Given the description of an element on the screen output the (x, y) to click on. 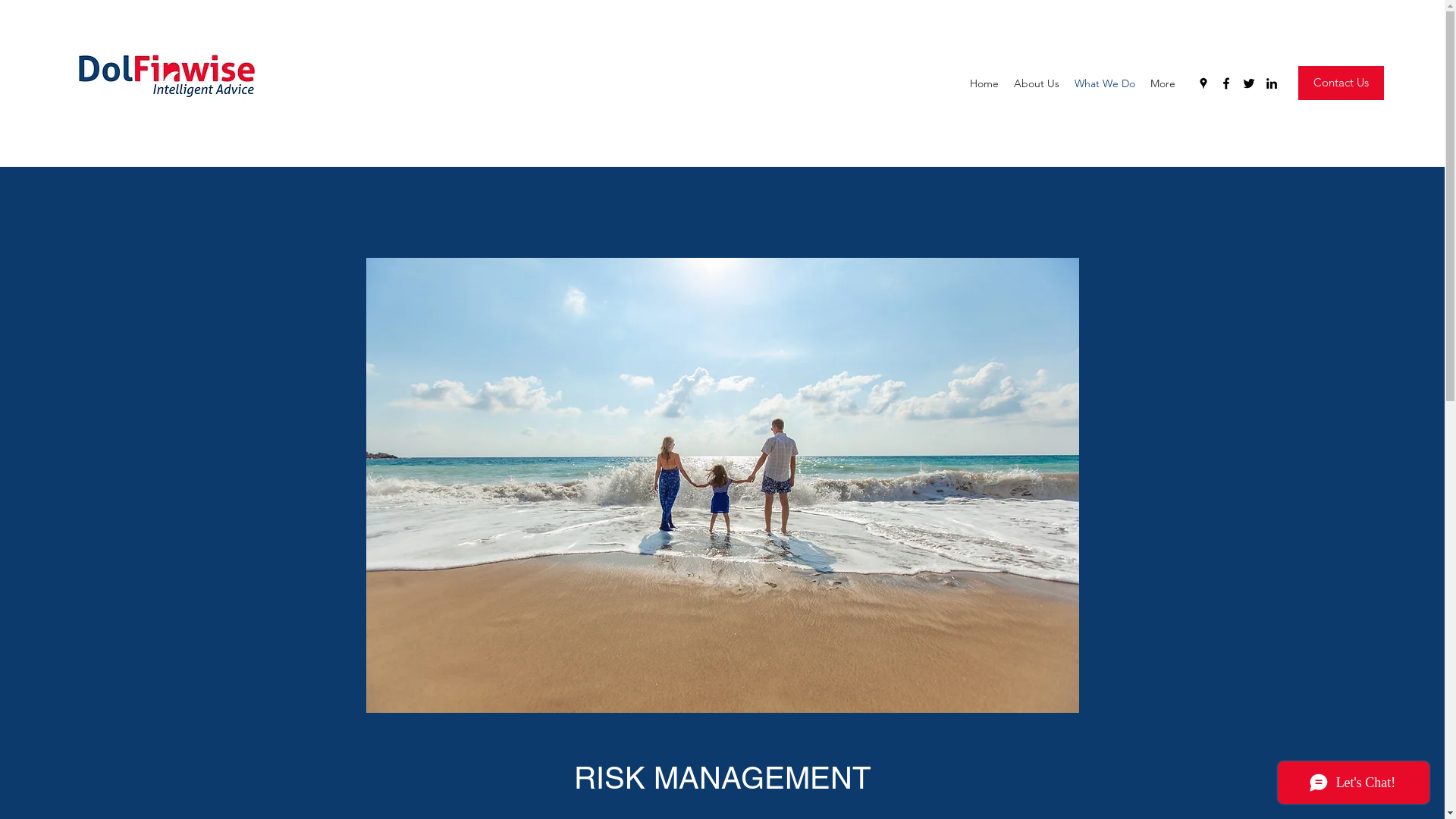
Home Element type: text (984, 83)
Contact Us Element type: text (1340, 82)
About Us Element type: text (1036, 83)
What We Do Element type: text (1104, 83)
